Given the description of an element on the screen output the (x, y) to click on. 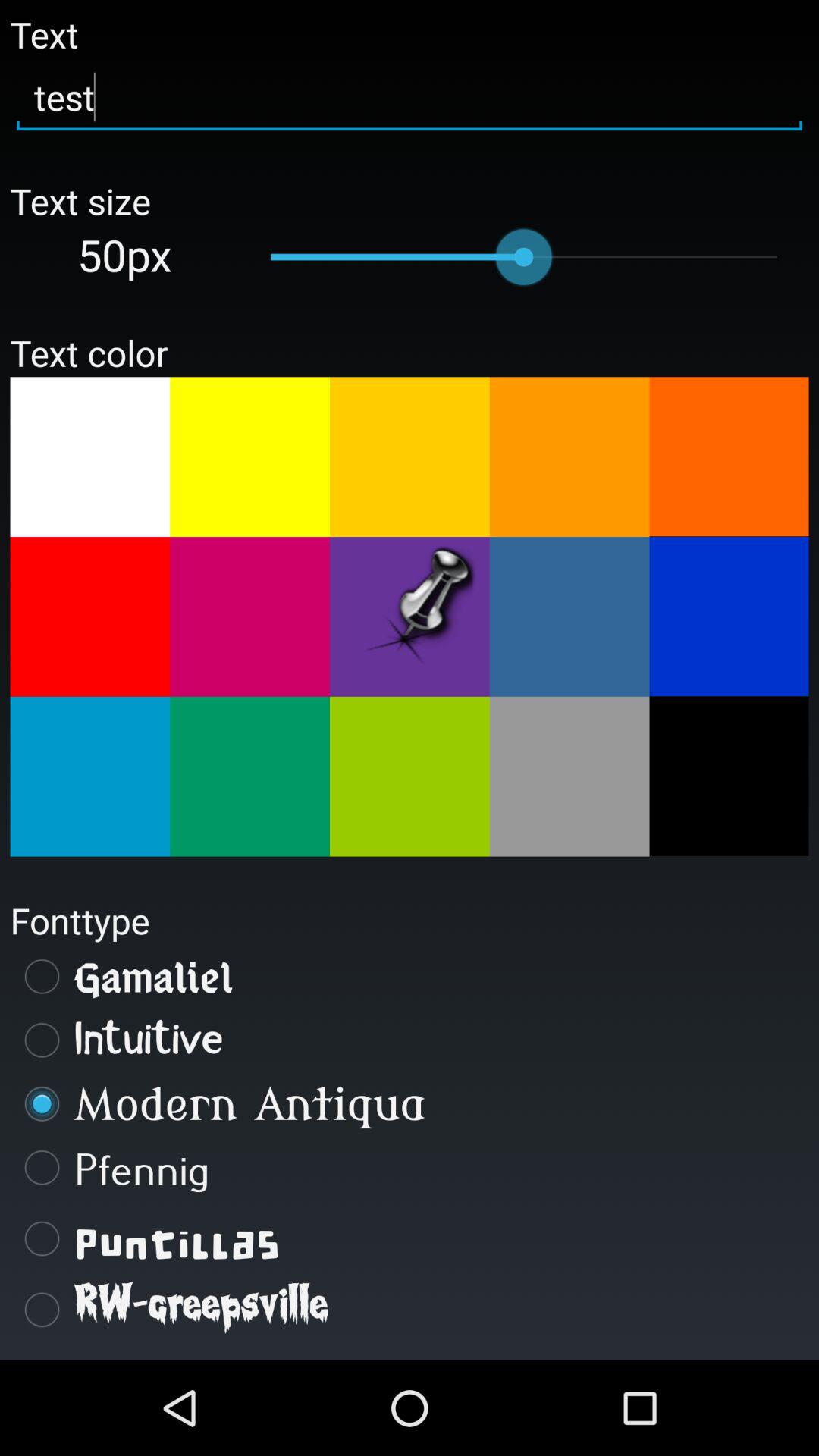
select text color (90, 456)
